Given the description of an element on the screen output the (x, y) to click on. 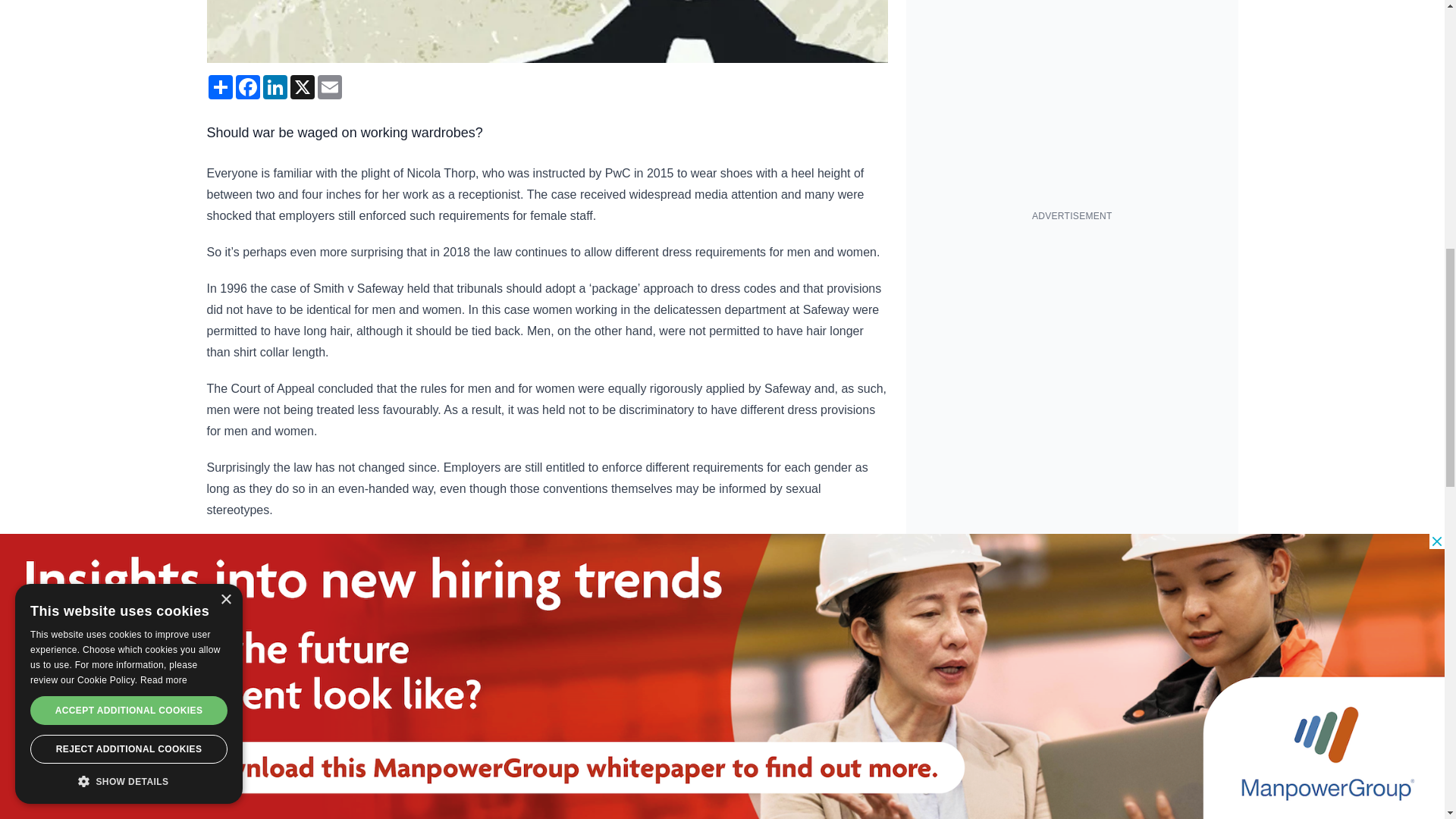
3rd party ad content (1072, 327)
